Given the description of an element on the screen output the (x, y) to click on. 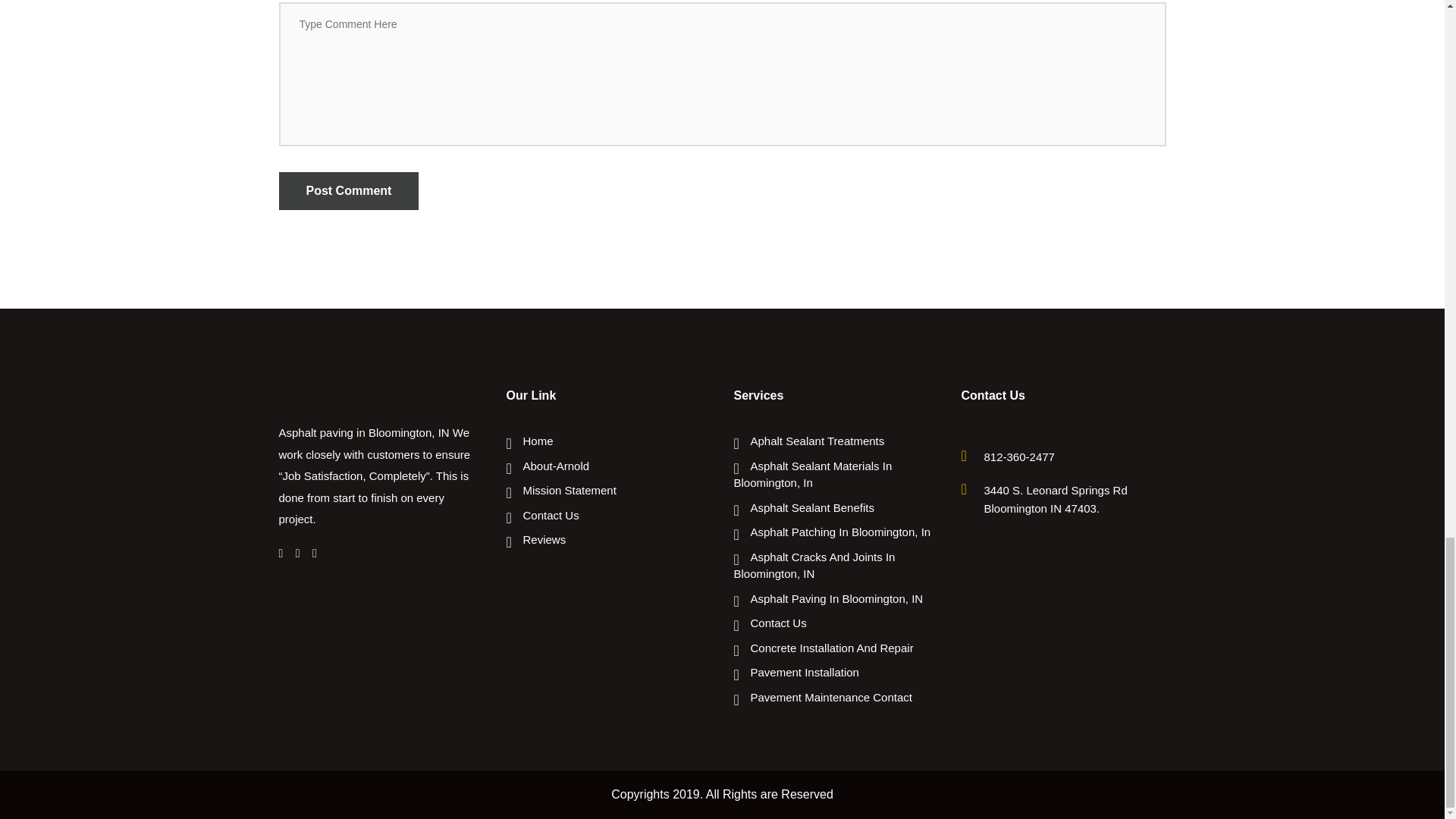
Post Comment (349, 190)
